Given the description of an element on the screen output the (x, y) to click on. 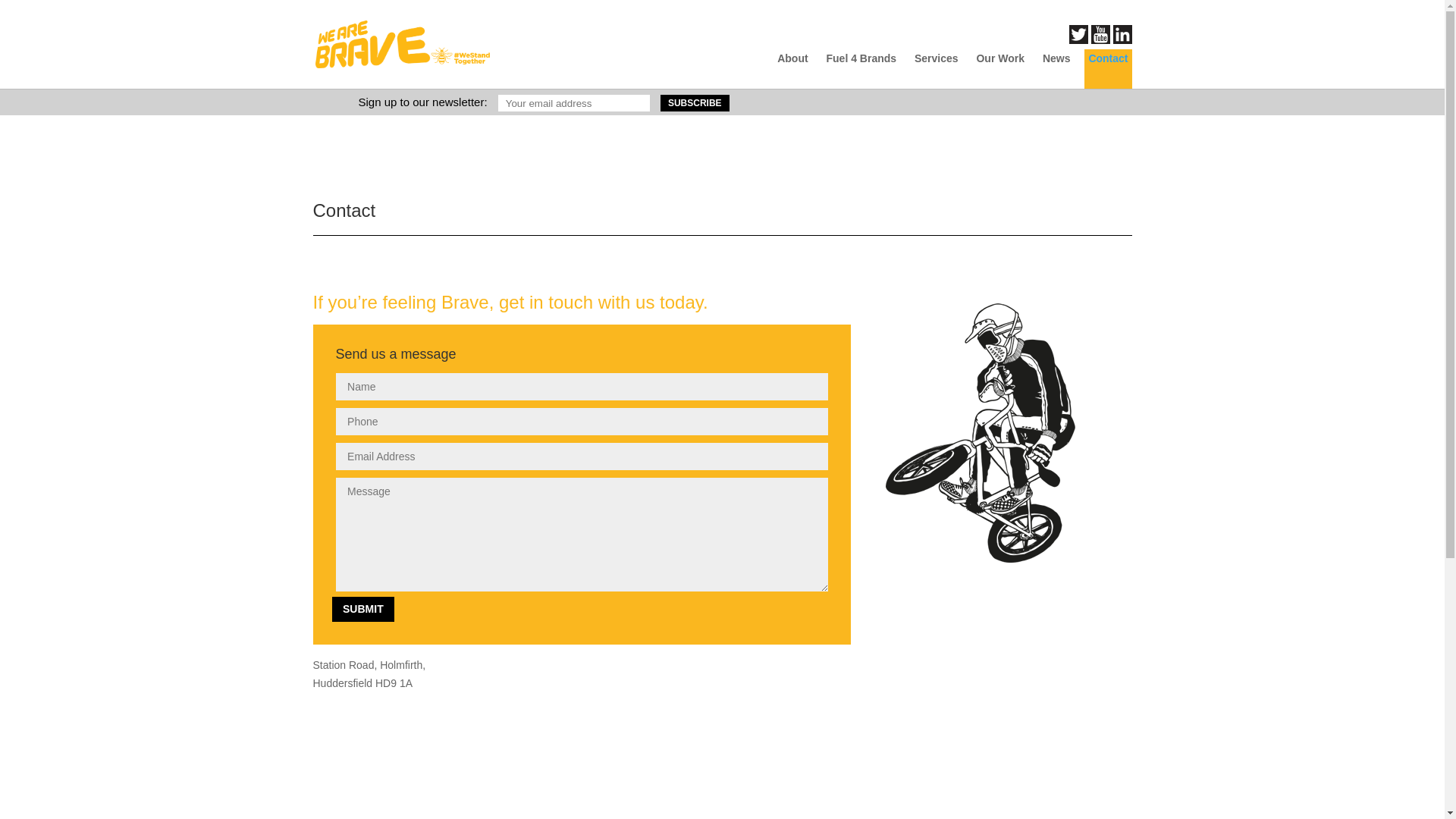
About (791, 68)
Services (936, 68)
Subscribe (695, 103)
SUBMIT (362, 608)
Our Work (999, 68)
News (1056, 68)
Contact (1107, 68)
Fuel 4 Brands (860, 68)
Subscribe (695, 103)
